Given the description of an element on the screen output the (x, y) to click on. 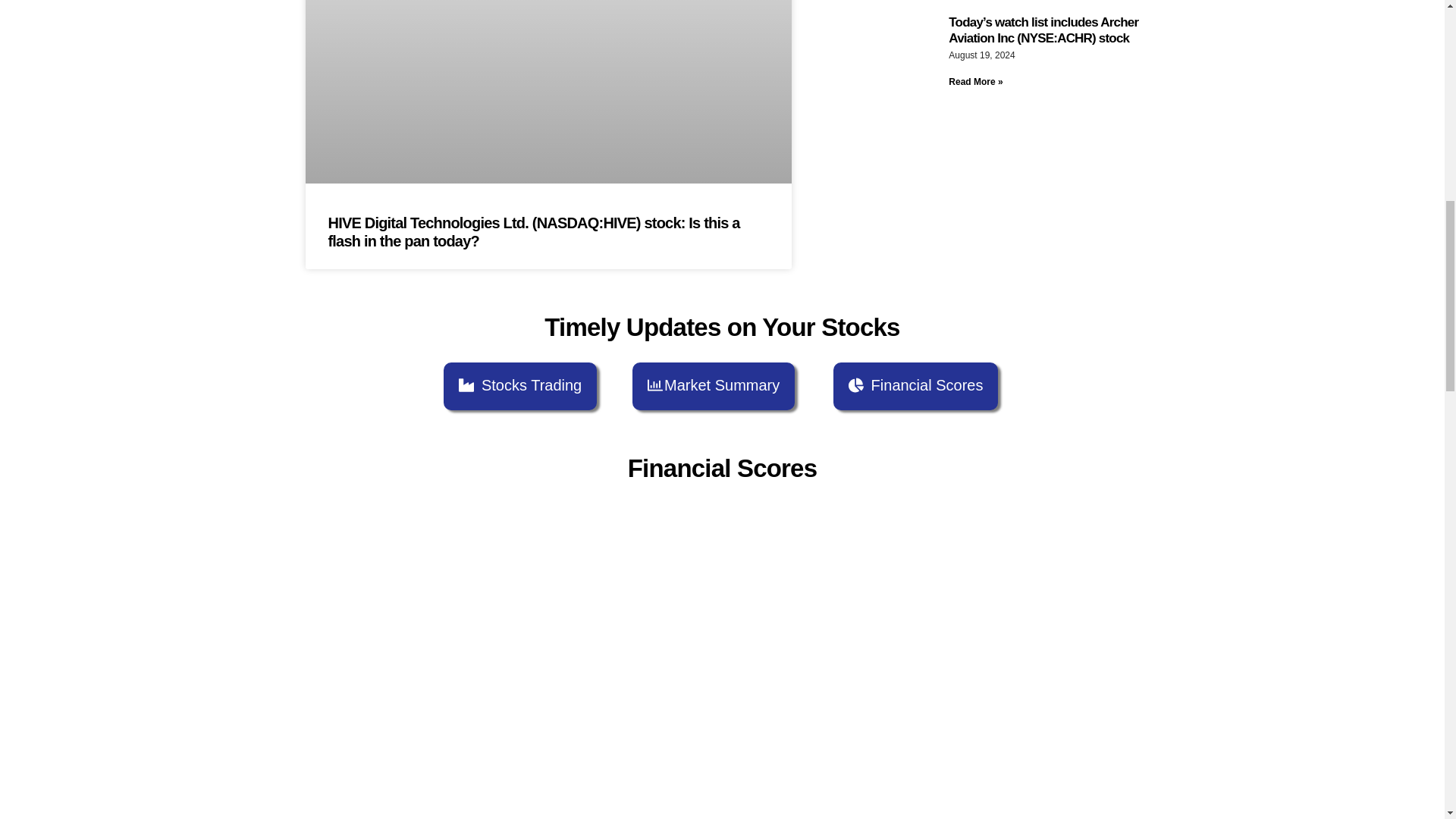
Stocks Trading (520, 386)
Market Summary (712, 386)
Financial Scores (915, 386)
